Given the description of an element on the screen output the (x, y) to click on. 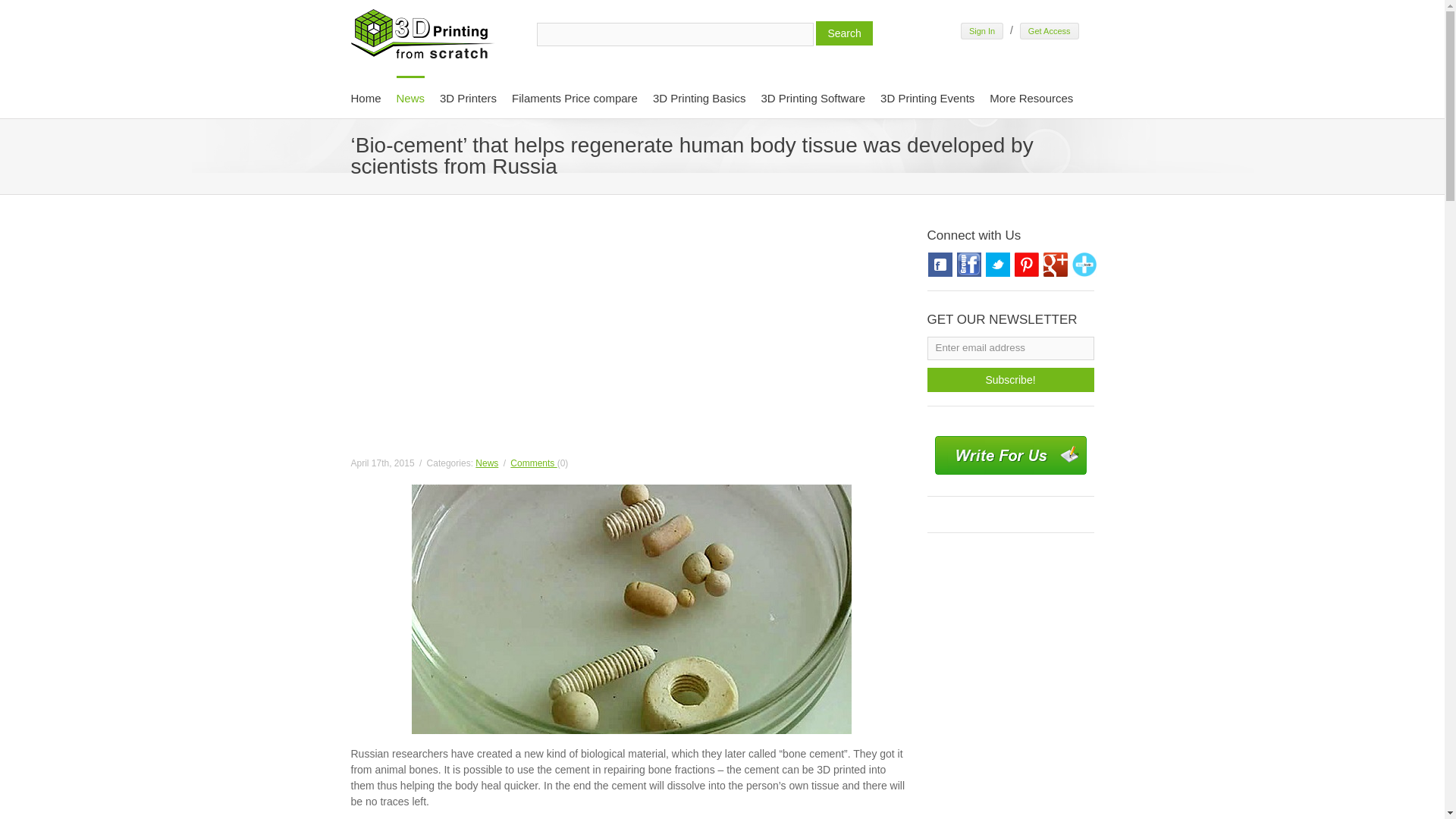
Search (843, 33)
3D Printing Basics (698, 96)
3D Printing Software (813, 96)
Get Access (1049, 30)
Filaments Price compare (574, 96)
Find More Interesting Info here (1031, 96)
More Resources (1031, 96)
Subscribe! (1009, 379)
3D Printers (467, 96)
